Given the description of an element on the screen output the (x, y) to click on. 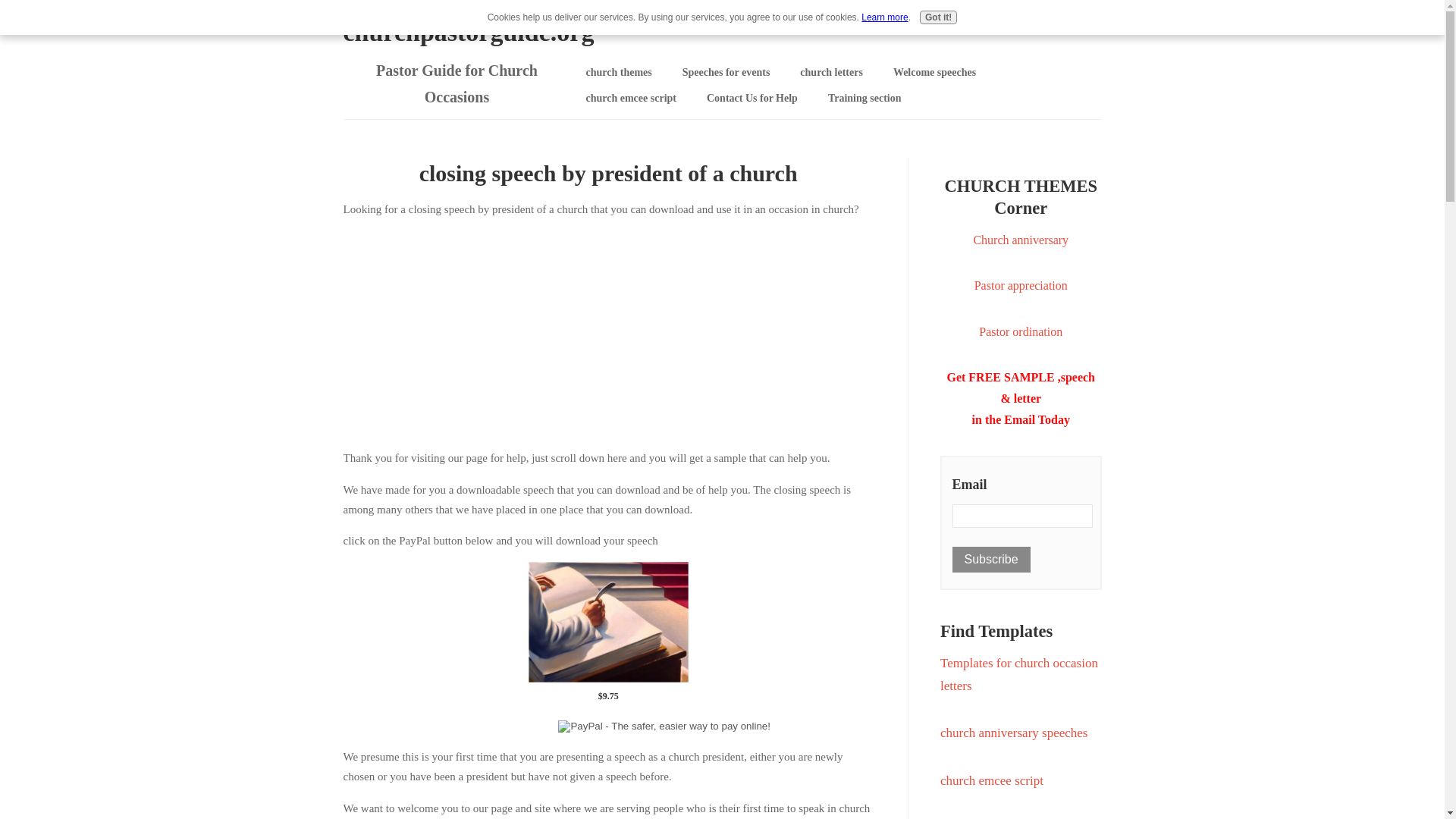
church letters (830, 72)
Training section (864, 98)
church themes (618, 72)
Templates for church occasion letters (1018, 674)
Advertisement (607, 330)
churchpastorguide.org (468, 31)
Contact Us for Help (751, 98)
church emcee script (630, 98)
church anniversary speeches (1013, 732)
church emcee script (991, 780)
